Given the description of an element on the screen output the (x, y) to click on. 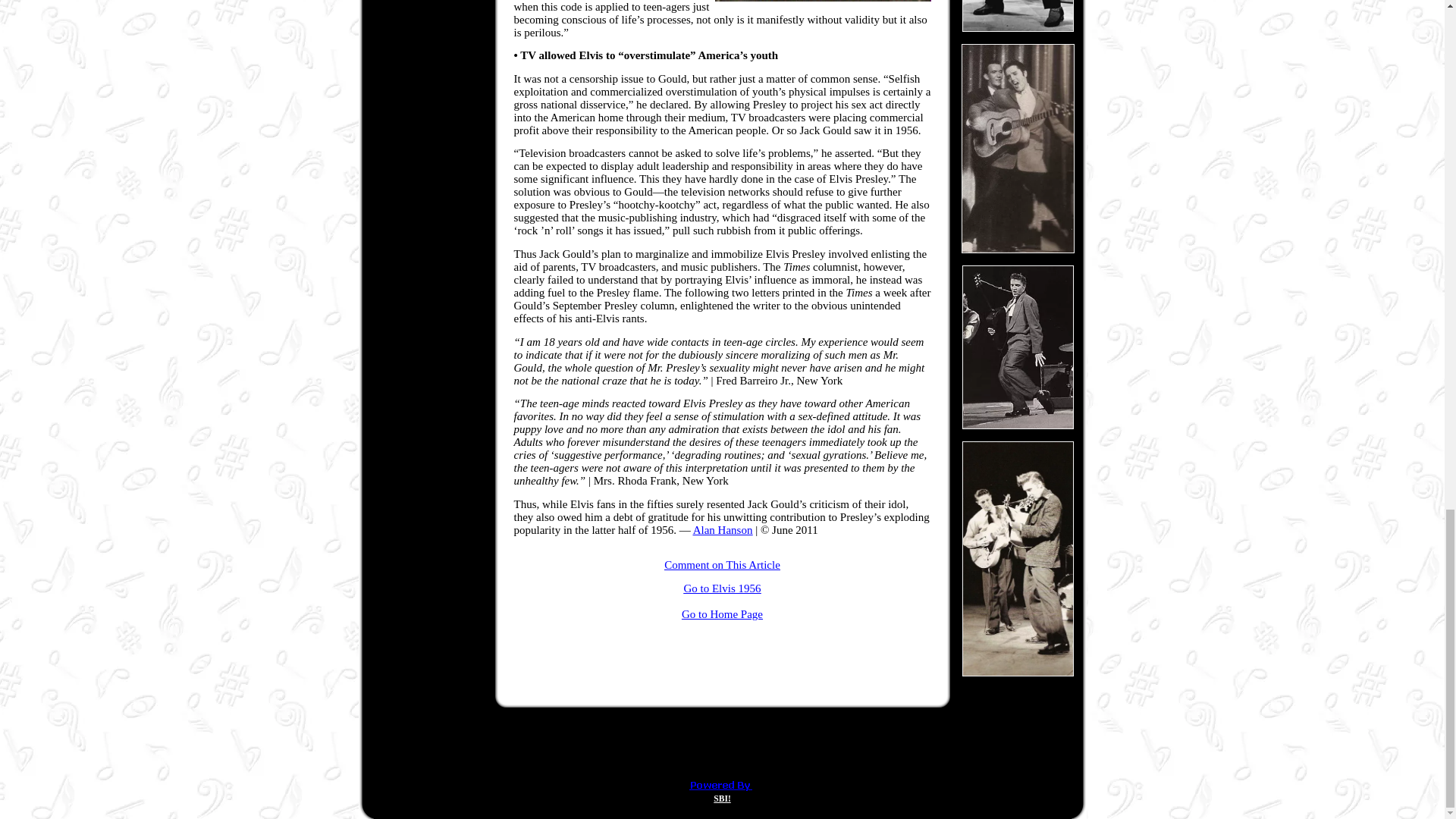
Go to Home Page (721, 614)
Elvis Presley on The Ed Sullivan Show (1018, 15)
Elvis and Scotty Moore on Dorsey Show (1018, 558)
Elvis Presley and Hugh Jarrett (1017, 148)
SBI! (721, 798)
Comment on This Article (721, 564)
Alan Hanson (722, 530)
Go to Elvis 1956 (721, 595)
